Given the description of an element on the screen output the (x, y) to click on. 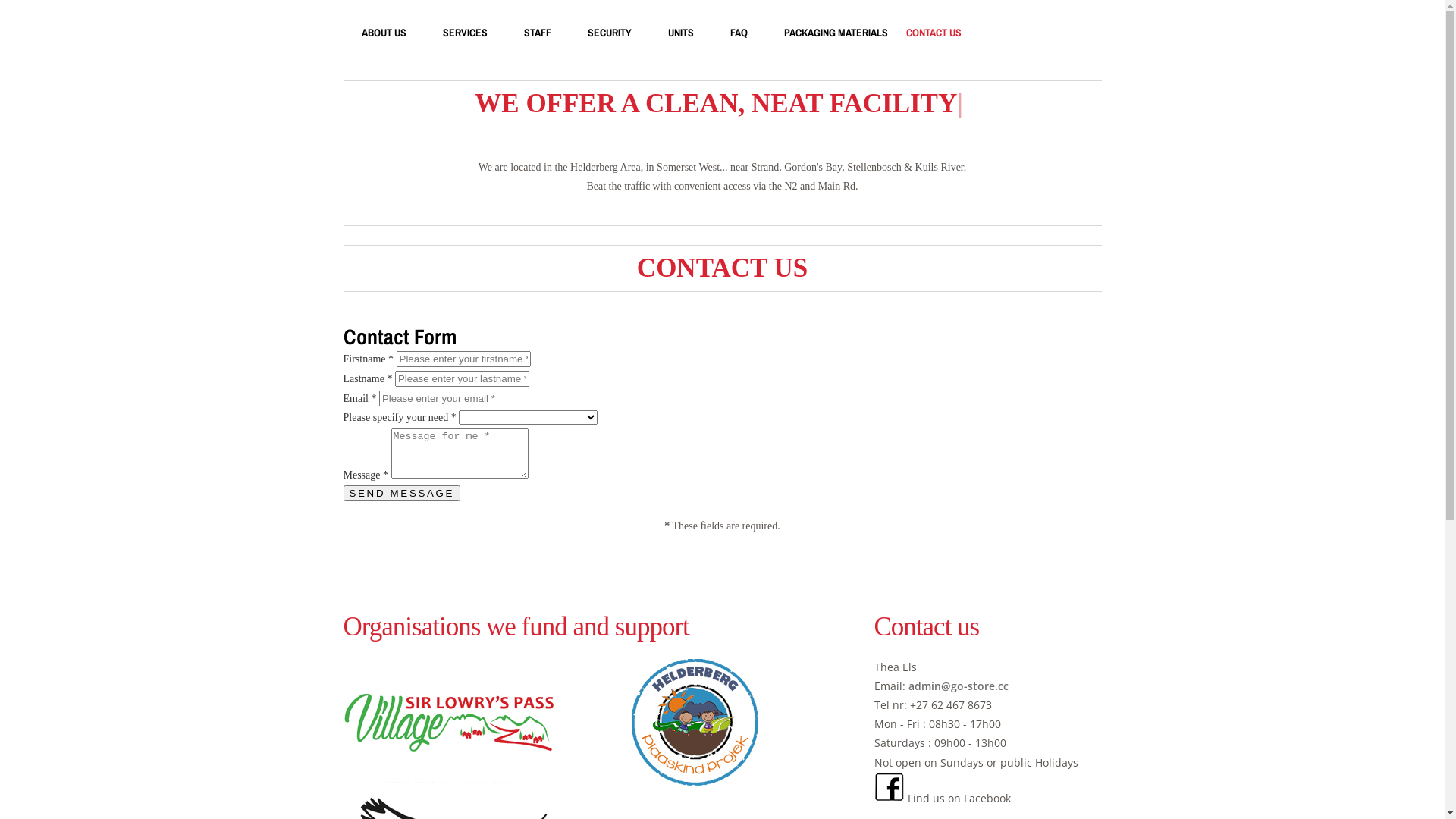
SERVICES Element type: text (464, 32)
FAQ Element type: text (737, 32)
UNITS Element type: text (680, 32)
admin@go-store.cc Element type: text (958, 685)
PACKAGING MATERIALS Element type: text (836, 32)
CONTACT US Element type: text (932, 32)
Send message Element type: text (401, 493)
STAFF Element type: text (536, 32)
SECURITY Element type: text (608, 32)
ABOUT US Element type: text (382, 32)
